Given the description of an element on the screen output the (x, y) to click on. 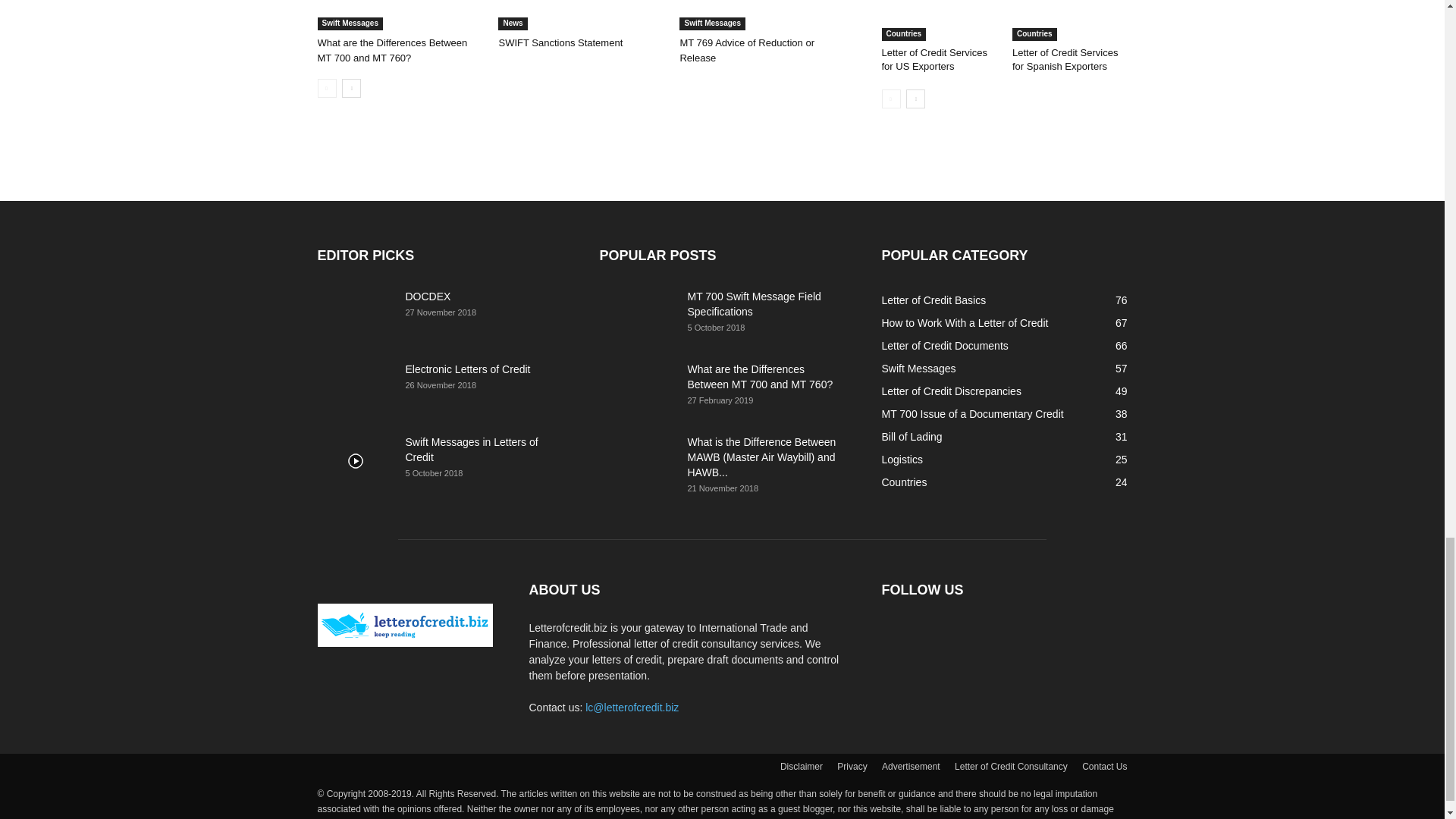
SWIFT Sanctions Statement (560, 42)
SWIFT Sanctions Statement (580, 15)
MT 769 Advice of Reduction or Release (761, 15)
What are the Differences Between MT 700 and MT 760? (392, 49)
What are the Differences Between MT 700 and MT 760? (399, 15)
MT 769 Advice of Reduction or Release (746, 49)
